Given the description of an element on the screen output the (x, y) to click on. 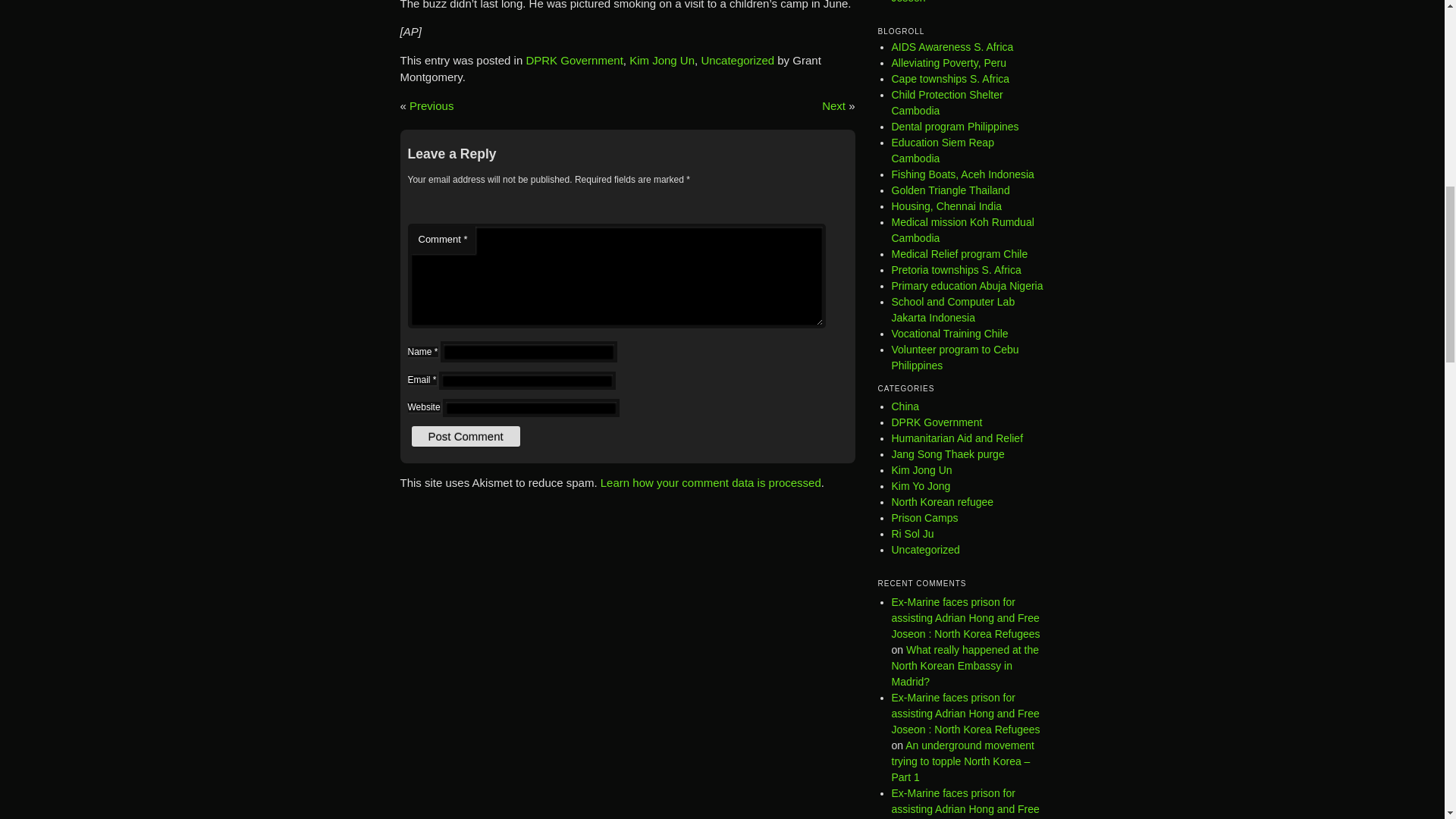
Post Comment (464, 435)
Cape townships S. Africa (950, 78)
AIDS Awareness S. Africa (952, 46)
Housing, Chennai India (947, 205)
Fishing Boats, Aceh Indonesia (962, 174)
Alleviating Poverty, Peru (948, 62)
Education Siem Reap Cambodia (942, 150)
Golden Triangle Thailand (950, 190)
Dental program Philippines (955, 126)
